Given the description of an element on the screen output the (x, y) to click on. 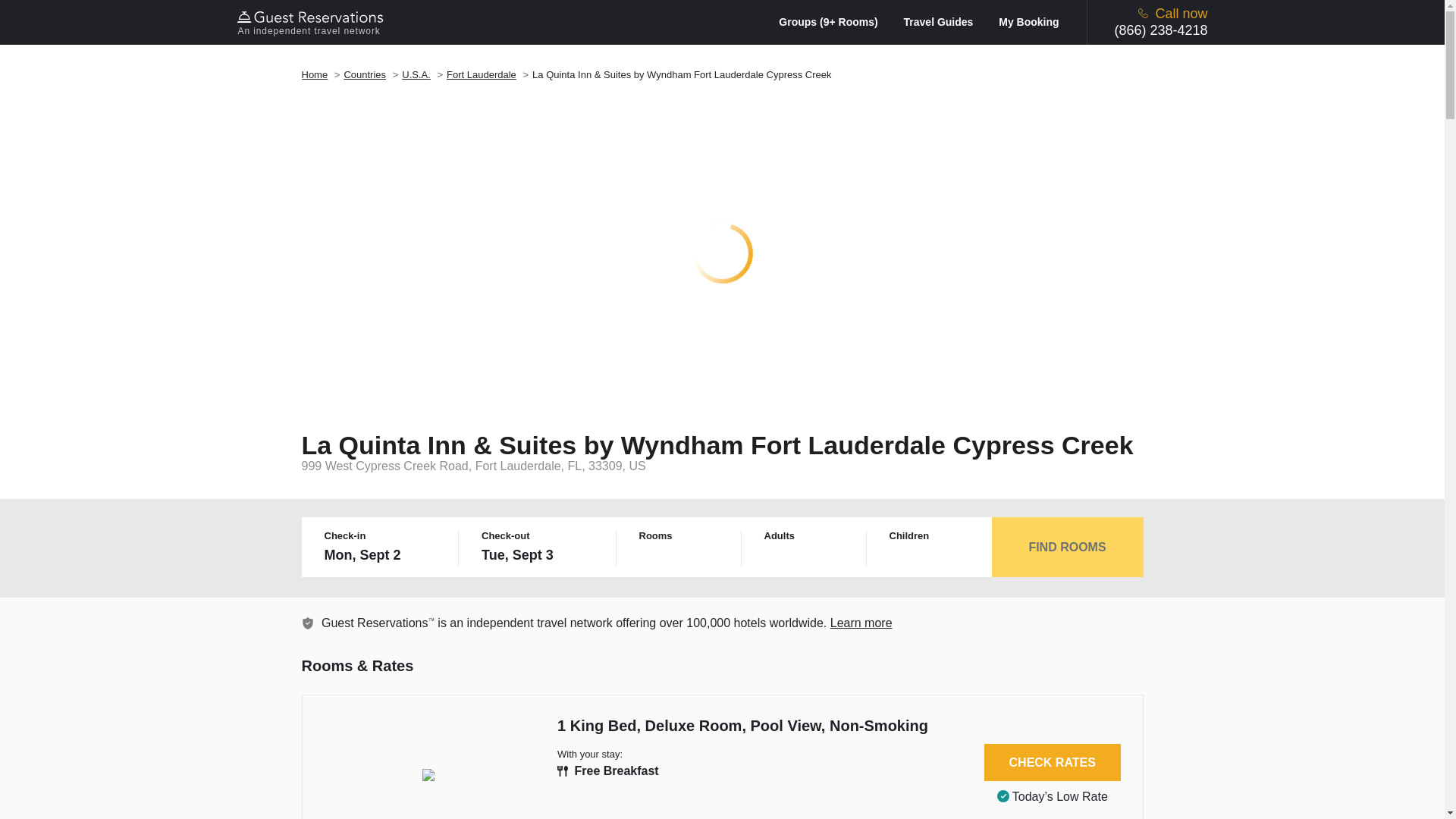
My Booking (1028, 21)
Guest Reservations (311, 22)
Mon, Sept 2 (381, 554)
Learn more (860, 622)
Countries (364, 74)
Travel Guides (949, 21)
Tue, Sept 3 (538, 554)
U.S.A. (415, 74)
Home (315, 74)
Fort Lauderdale (481, 74)
